Given the description of an element on the screen output the (x, y) to click on. 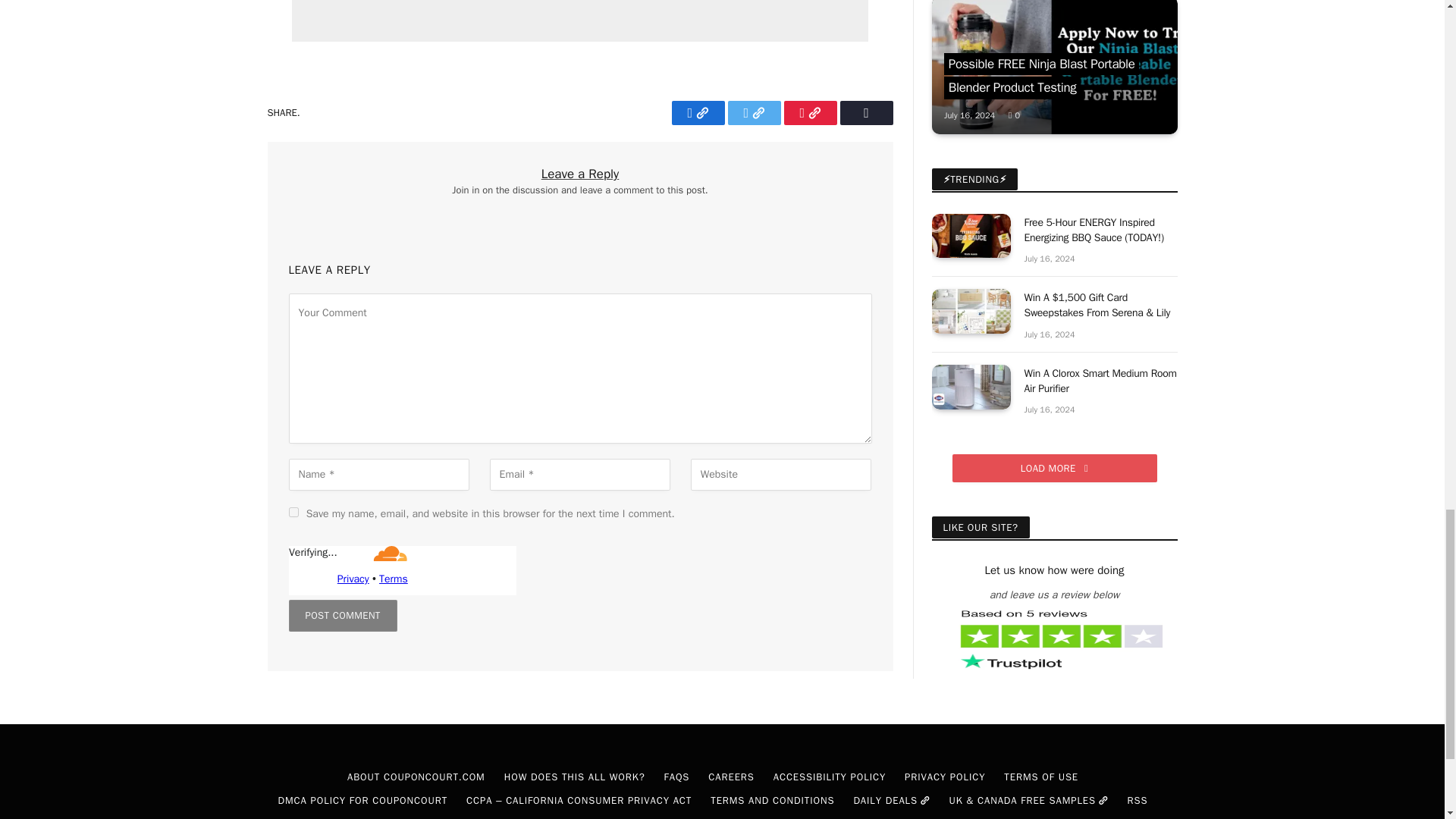
yes (293, 511)
Post Comment (342, 615)
